Given the description of an element on the screen output the (x, y) to click on. 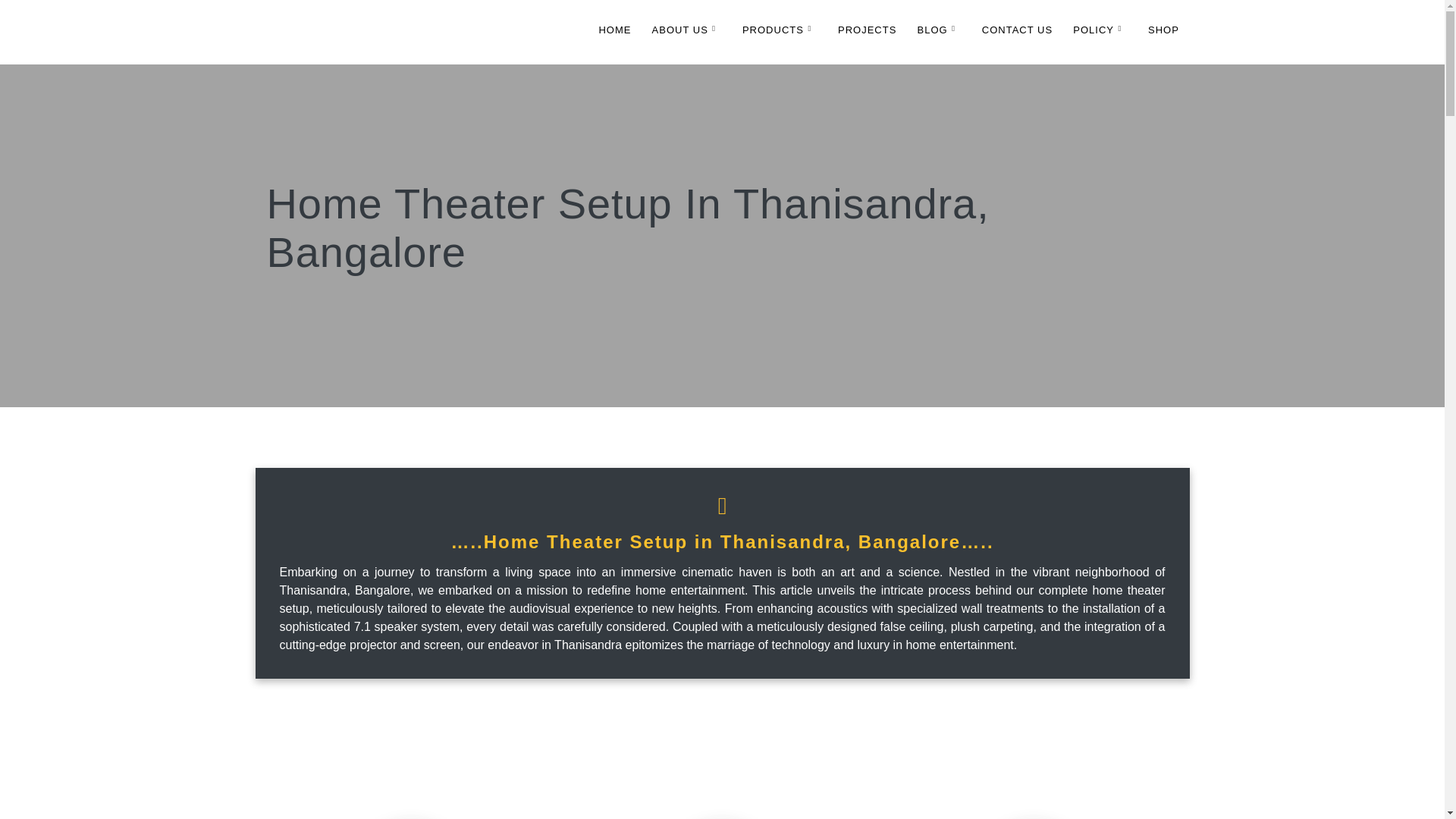
PROJECTS (867, 31)
WHITE NOISE ACOUSTICS (389, 31)
HOME (614, 31)
BLOG (938, 31)
CONTACT US (1016, 31)
POLICY (1099, 31)
PRODUCTS (779, 31)
ABOUT US (687, 31)
